Given the description of an element on the screen output the (x, y) to click on. 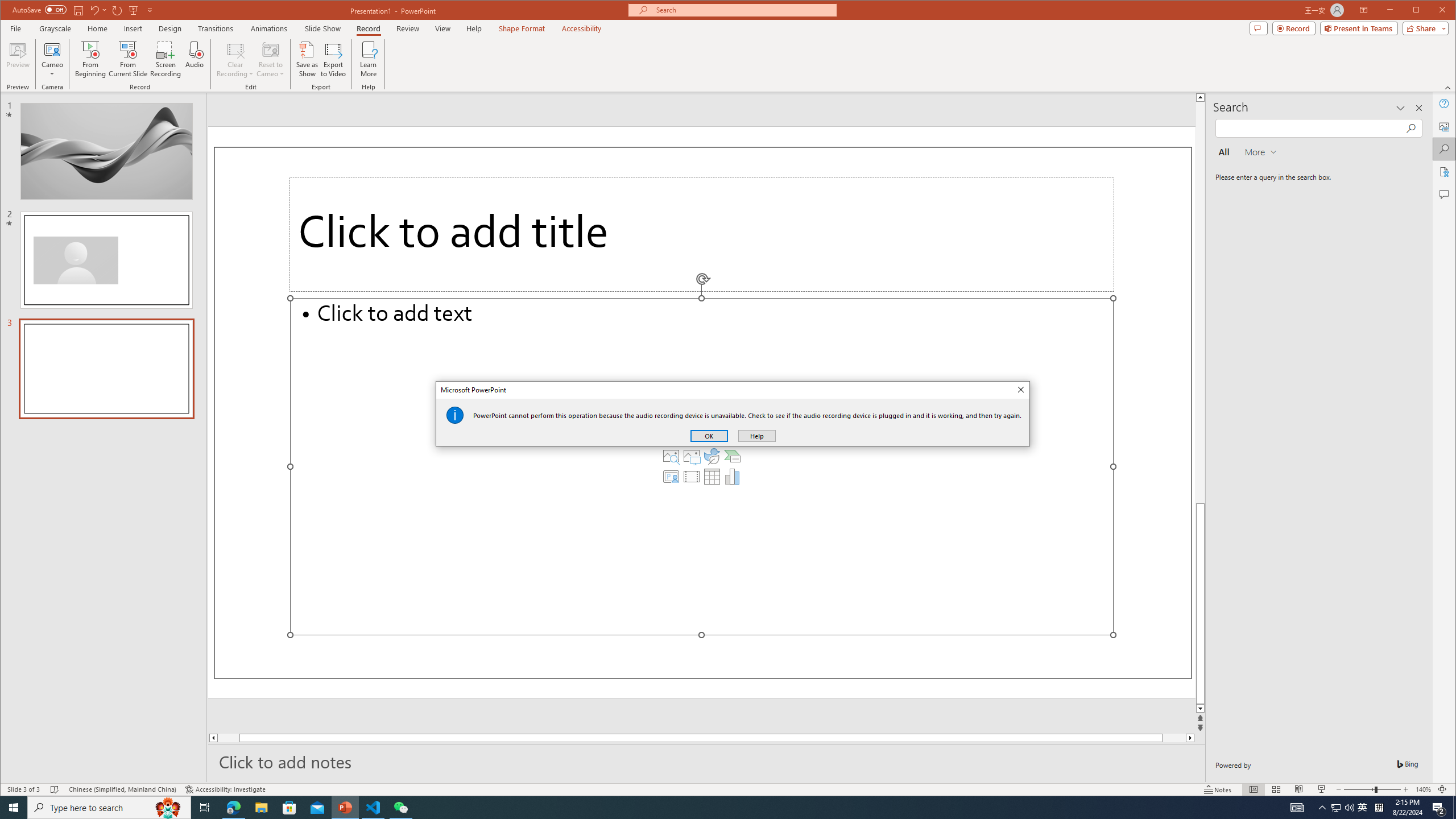
Insert Cameo (670, 476)
Export to Video (333, 59)
